Given the description of an element on the screen output the (x, y) to click on. 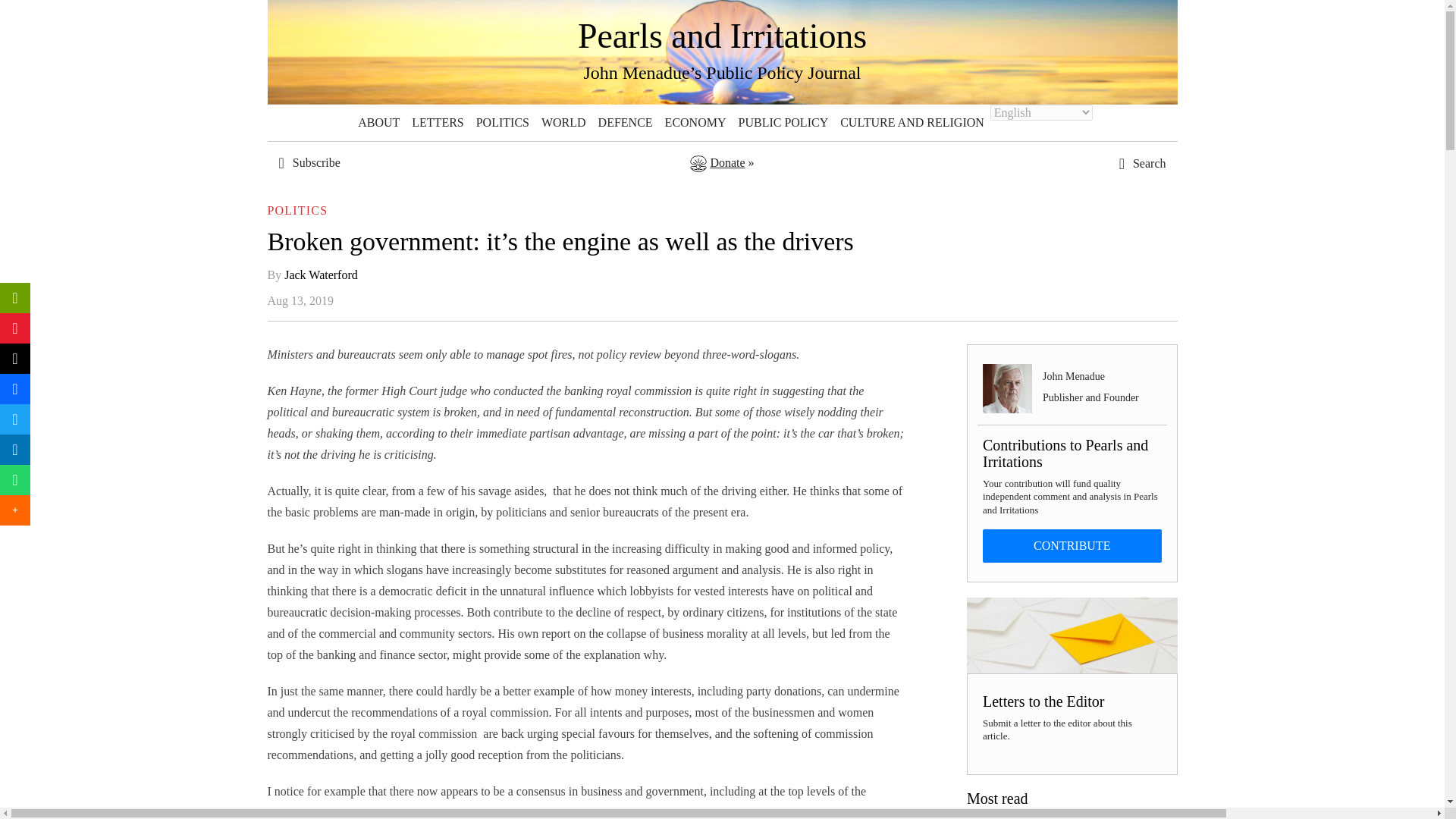
ABOUT (379, 122)
Letters (437, 122)
LETTERS (437, 122)
ECONOMY (695, 122)
About (379, 122)
PUBLIC POLICY (783, 122)
World (563, 122)
Defence (625, 122)
WORLD (563, 122)
DEFENCE (625, 122)
Search (1106, 440)
POLITICS (502, 122)
Politics (502, 122)
